Given the description of an element on the screen output the (x, y) to click on. 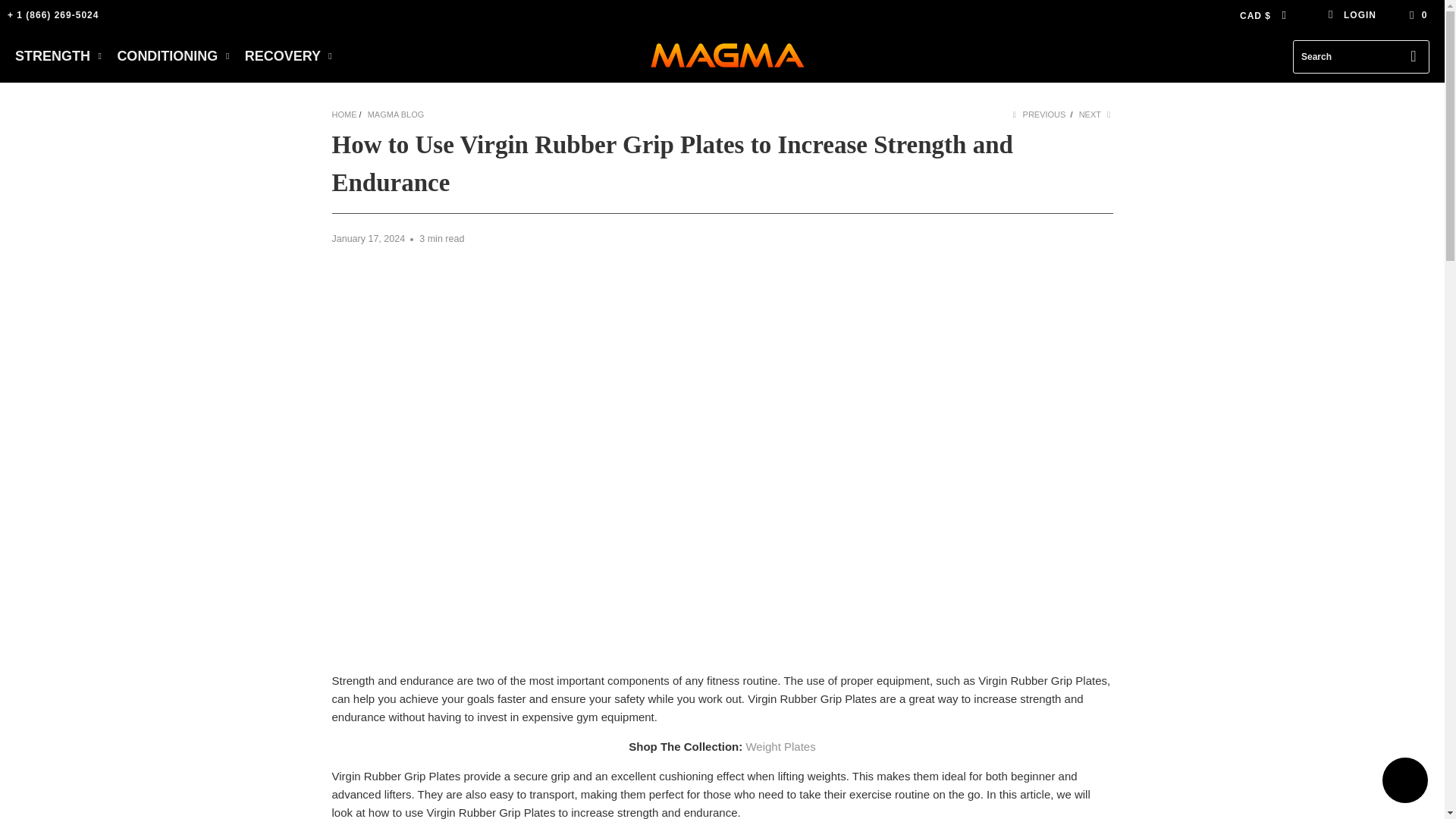
MAGMA Blog (396, 113)
My Account  (1351, 15)
MAGMA Fitness (727, 56)
MAGMA Fitness (343, 113)
